Given the description of an element on the screen output the (x, y) to click on. 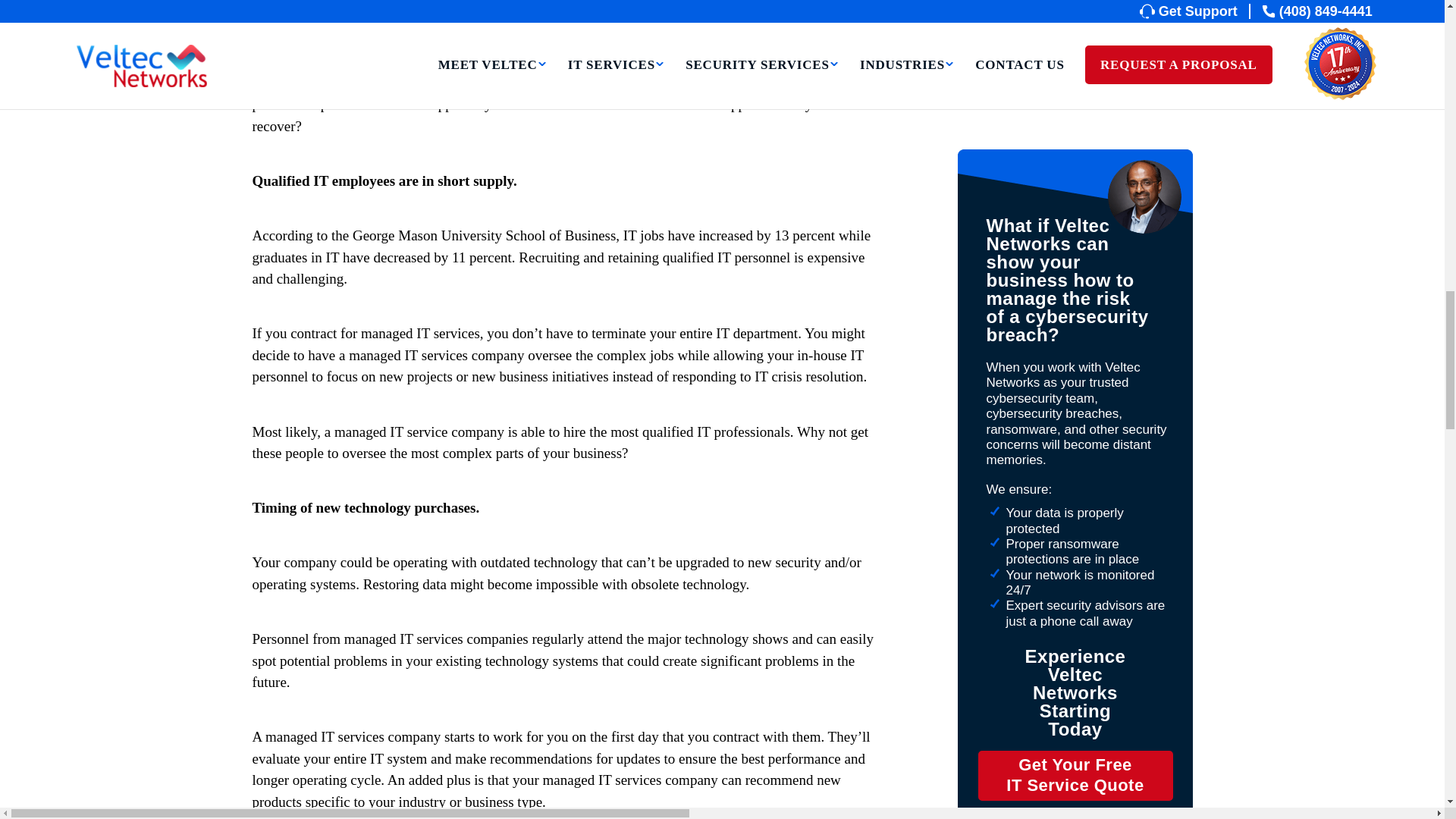
IT services (352, 61)
IT services (352, 61)
